Given the description of an element on the screen output the (x, y) to click on. 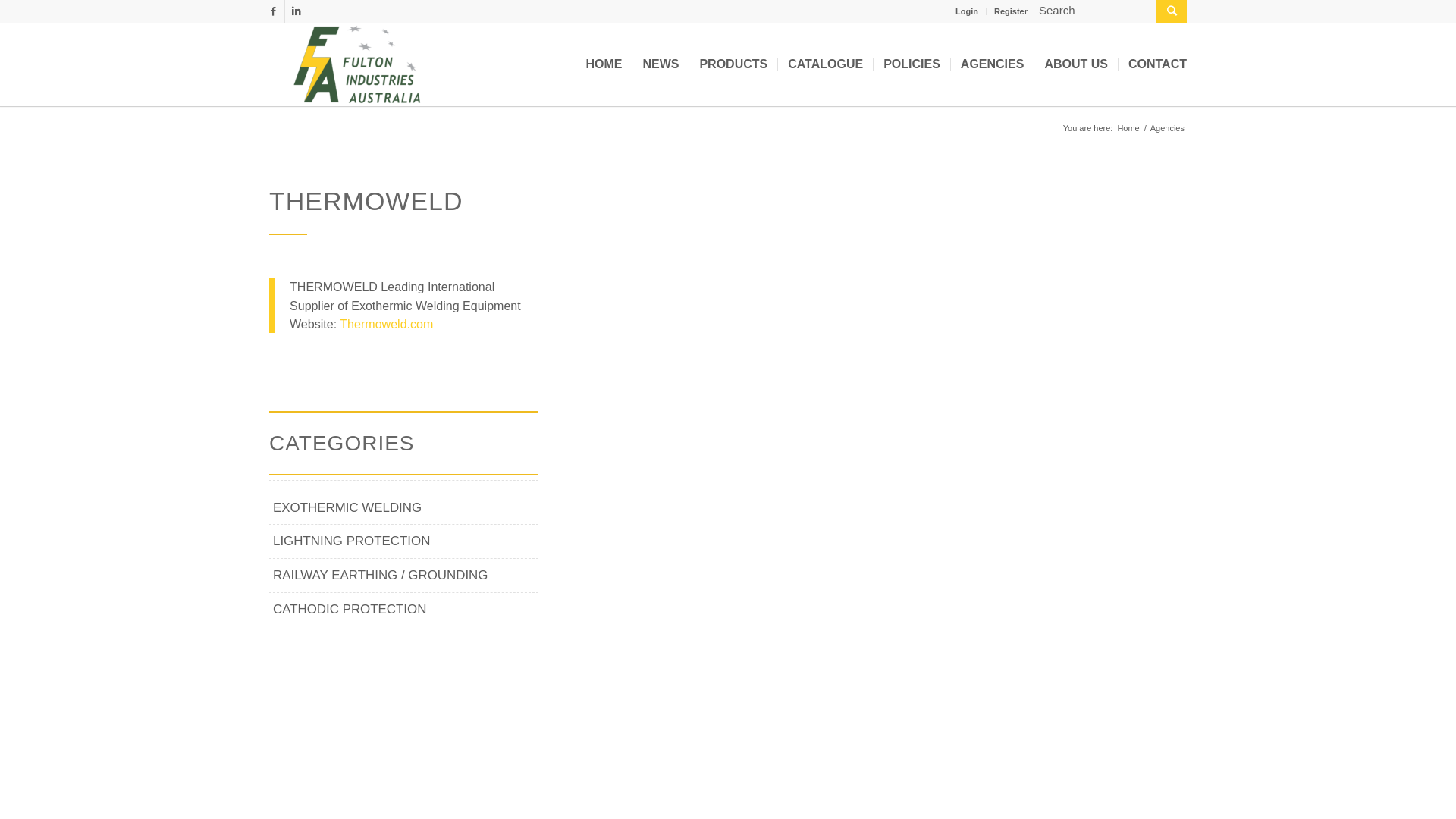
NEWS Element type: text (659, 64)
HOME Element type: text (603, 64)
Register Element type: text (1010, 11)
CONTACT Element type: text (1151, 64)
RAILWAY EARTHING / GROUNDING Element type: text (403, 575)
ABOUT US Element type: text (1075, 64)
LIGHTNING PROTECTION Element type: text (403, 541)
Linkedin Element type: hover (296, 11)
POLICIES Element type: text (911, 64)
EXOTHERMIC WELDING Element type: text (403, 507)
Home Element type: text (1127, 128)
Facebook Element type: hover (273, 11)
Login Element type: text (966, 11)
AGENCIES Element type: text (992, 64)
PRODUCTS Element type: text (732, 64)
CATHODIC PROTECTION Element type: text (403, 609)
CATALOGUE Element type: text (824, 64)
Thermoweld.com Element type: text (386, 323)
